Given the description of an element on the screen output the (x, y) to click on. 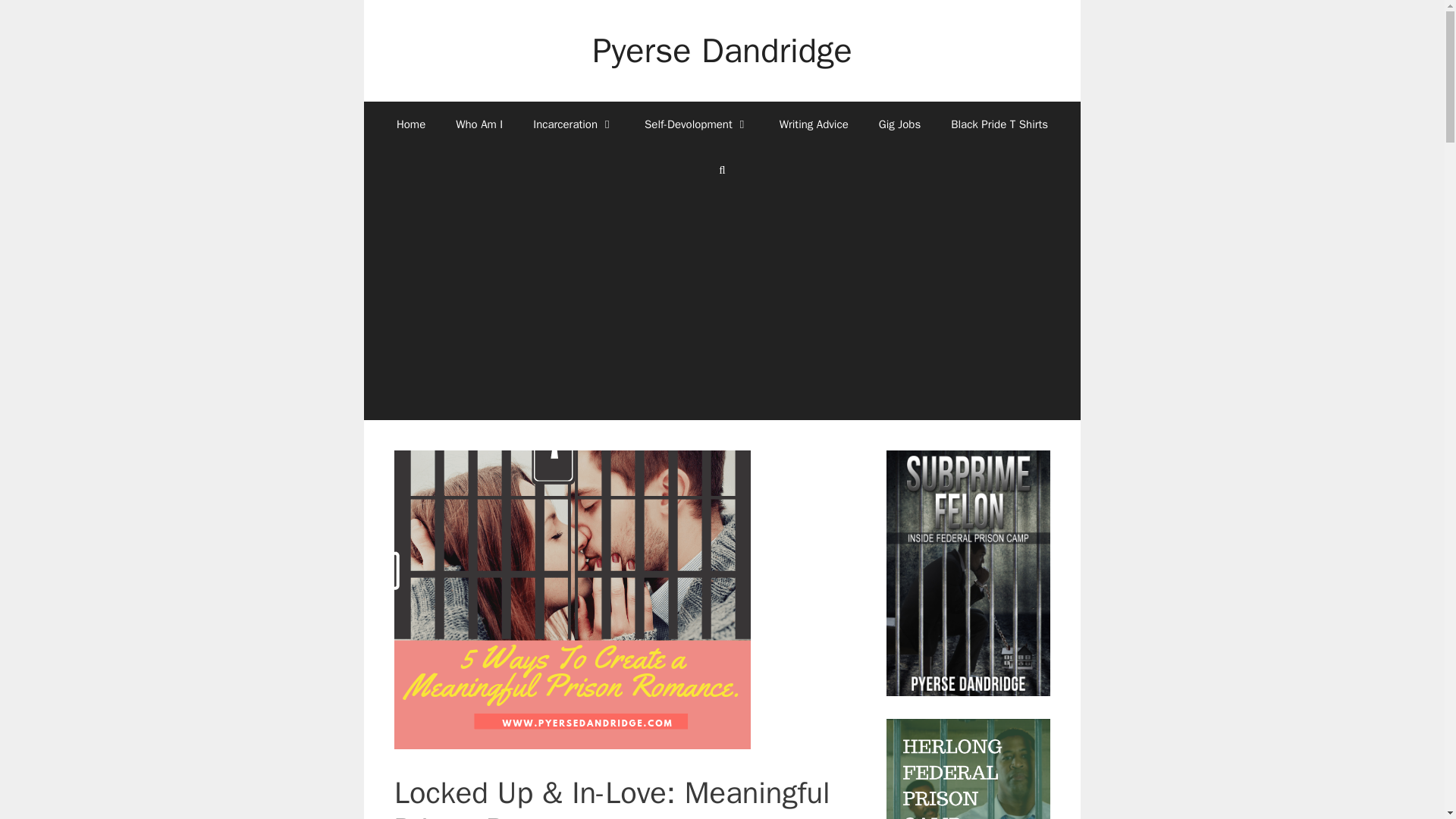
Pyerse Dandridge (721, 50)
Home (411, 124)
Self-Devolopment (696, 124)
Incarceration (573, 124)
Gig Jobs (899, 124)
Black Pride T Shirts (999, 124)
Who Am I (479, 124)
Writing Advice (813, 124)
Black Pride Clothing (999, 124)
